Given the description of an element on the screen output the (x, y) to click on. 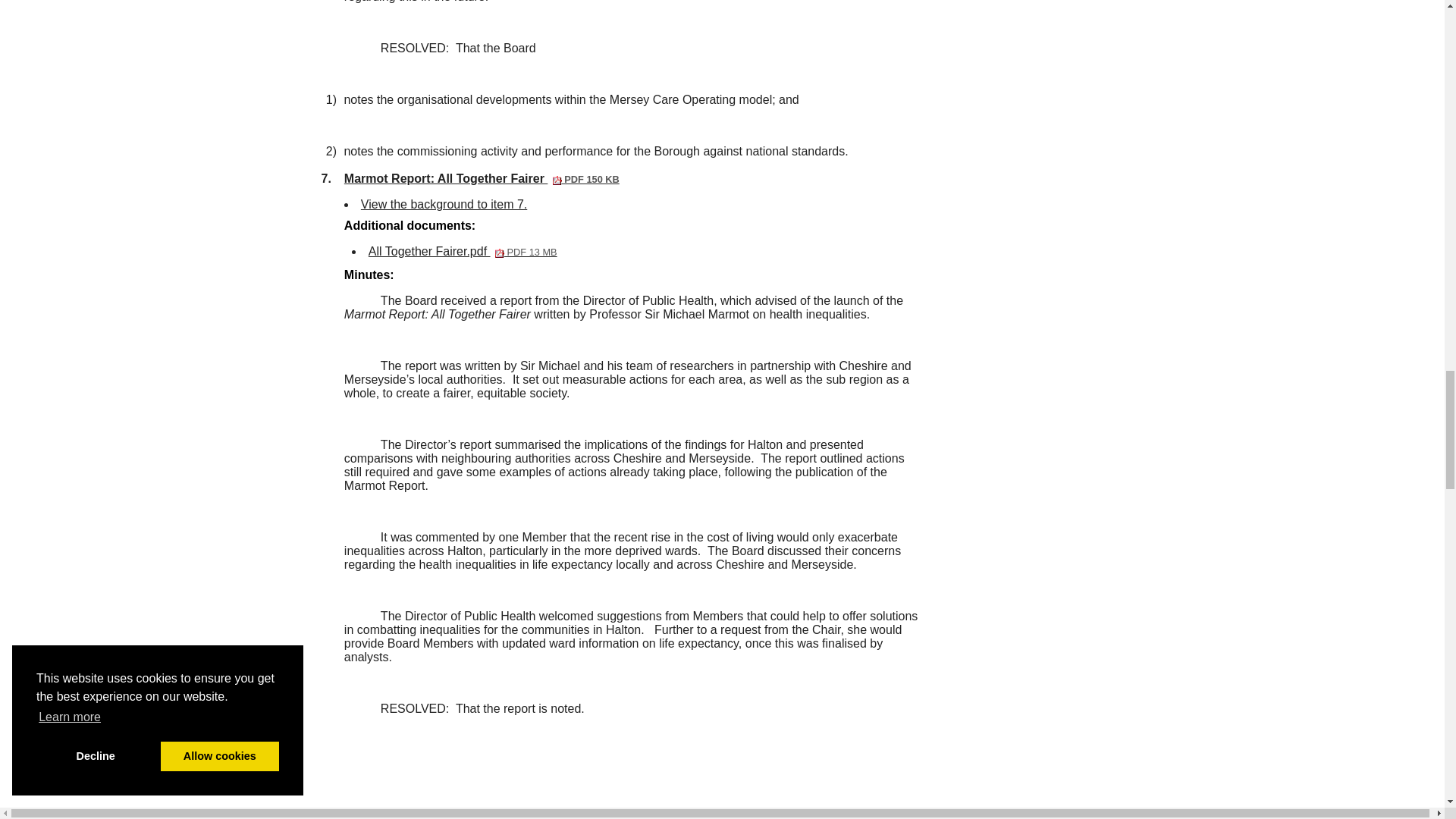
Marmot Report: All Together Fairer PDF 150 KB (462, 250)
Update on One Halton Place Based Partnership PDF 556 KB (481, 178)
View the background to item 7. (518, 812)
